Given the description of an element on the screen output the (x, y) to click on. 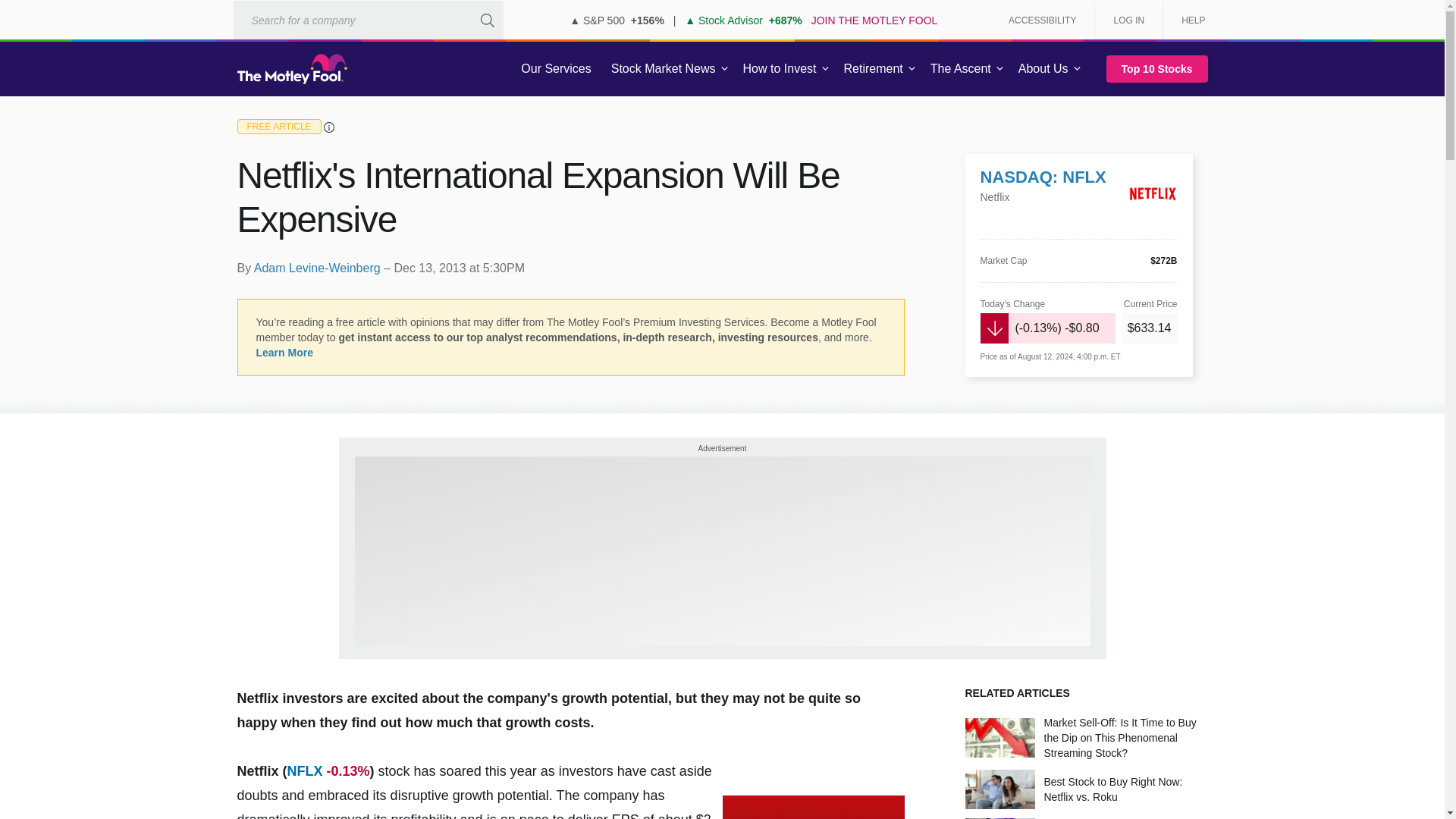
LOG IN (1128, 19)
HELP (1187, 19)
Stock Market News (662, 68)
ACCESSIBILITY (1042, 19)
How to Invest (779, 68)
Our Services (555, 68)
